Given the description of an element on the screen output the (x, y) to click on. 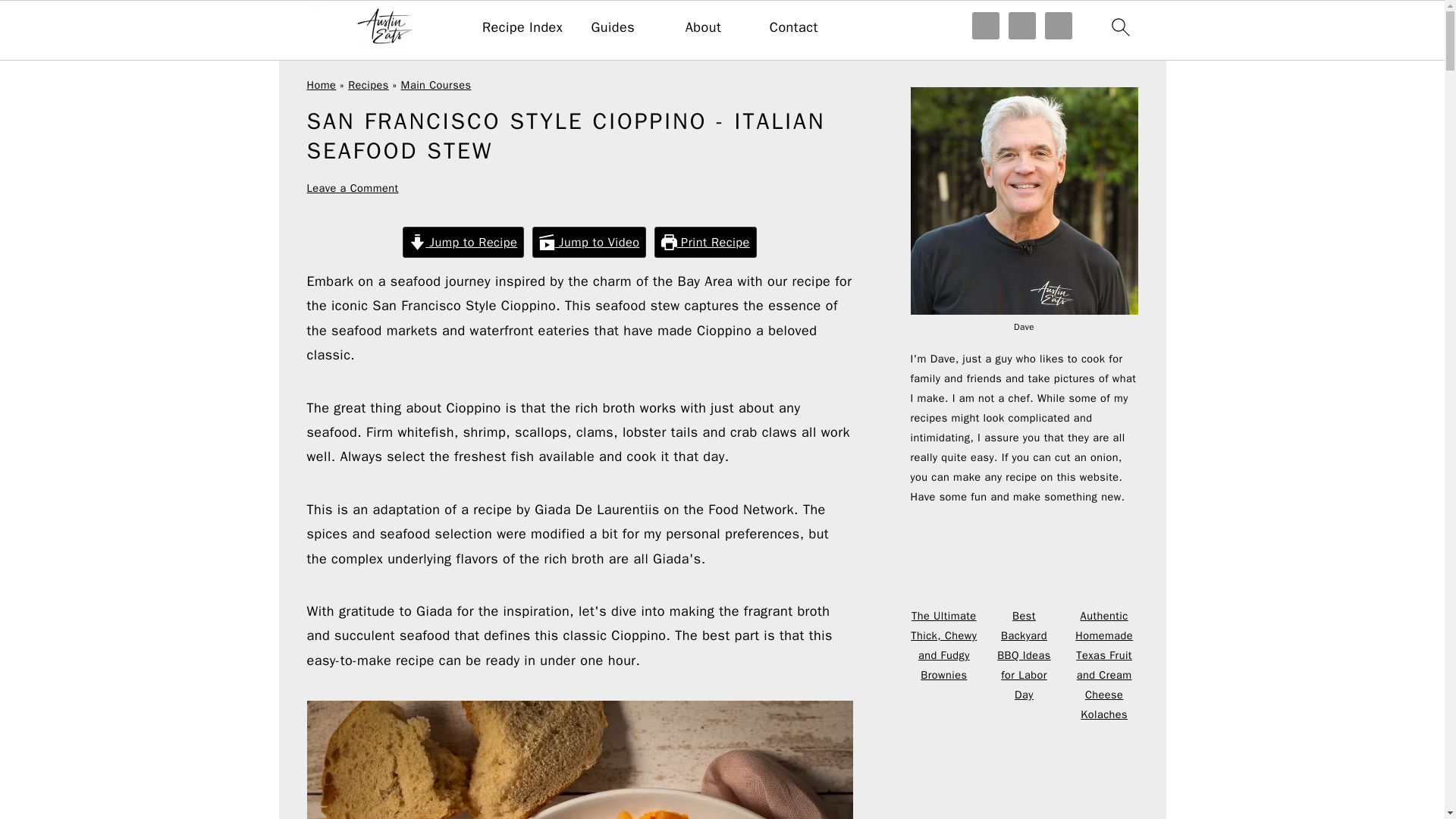
Recipe Index (521, 27)
Main Courses (436, 84)
Jump to Recipe (463, 241)
Home (320, 84)
Guides (612, 27)
Contact (794, 27)
Jump to Video (589, 241)
Recipes (367, 84)
Print Recipe (705, 241)
